Given the description of an element on the screen output the (x, y) to click on. 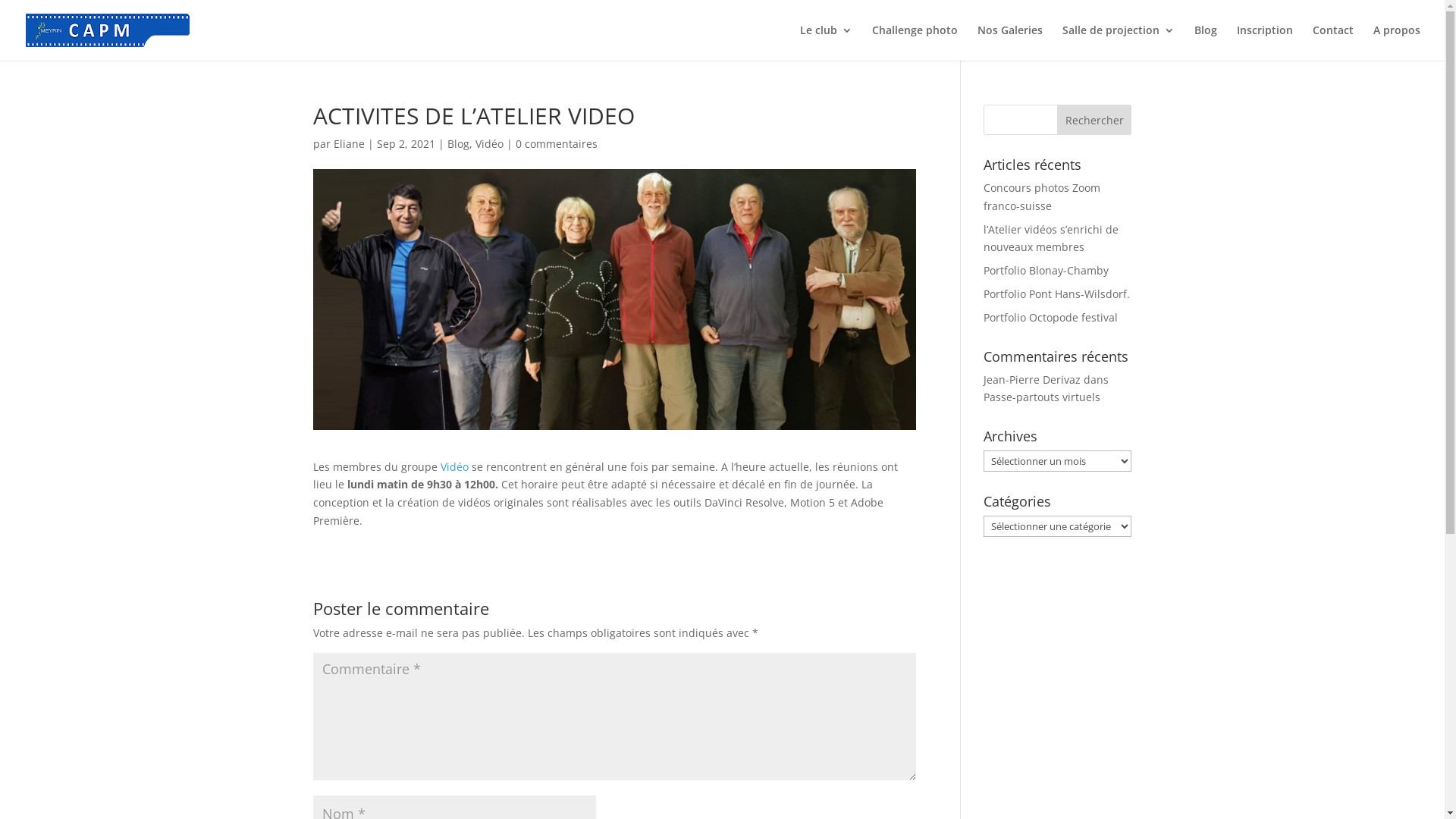
Blog Element type: text (1205, 42)
Inscription Element type: text (1264, 42)
Rechercher Element type: text (1094, 119)
Le club Element type: text (826, 42)
Blog Element type: text (458, 143)
0 commentaires Element type: text (556, 143)
Concours photos Zoom franco-suisse Element type: text (1041, 196)
Passe-partouts virtuels Element type: text (1041, 396)
A propos Element type: text (1396, 42)
Portfolio Pont Hans-Wilsdorf. Element type: text (1056, 293)
Salle de projection Element type: text (1118, 42)
Portfolio Octopode festival Element type: text (1050, 317)
Portfolio Blonay-Chamby Element type: text (1045, 270)
Challenge photo Element type: text (914, 42)
Contact Element type: text (1332, 42)
Eliane Element type: text (348, 143)
Nos Galeries Element type: text (1009, 42)
